Given the description of an element on the screen output the (x, y) to click on. 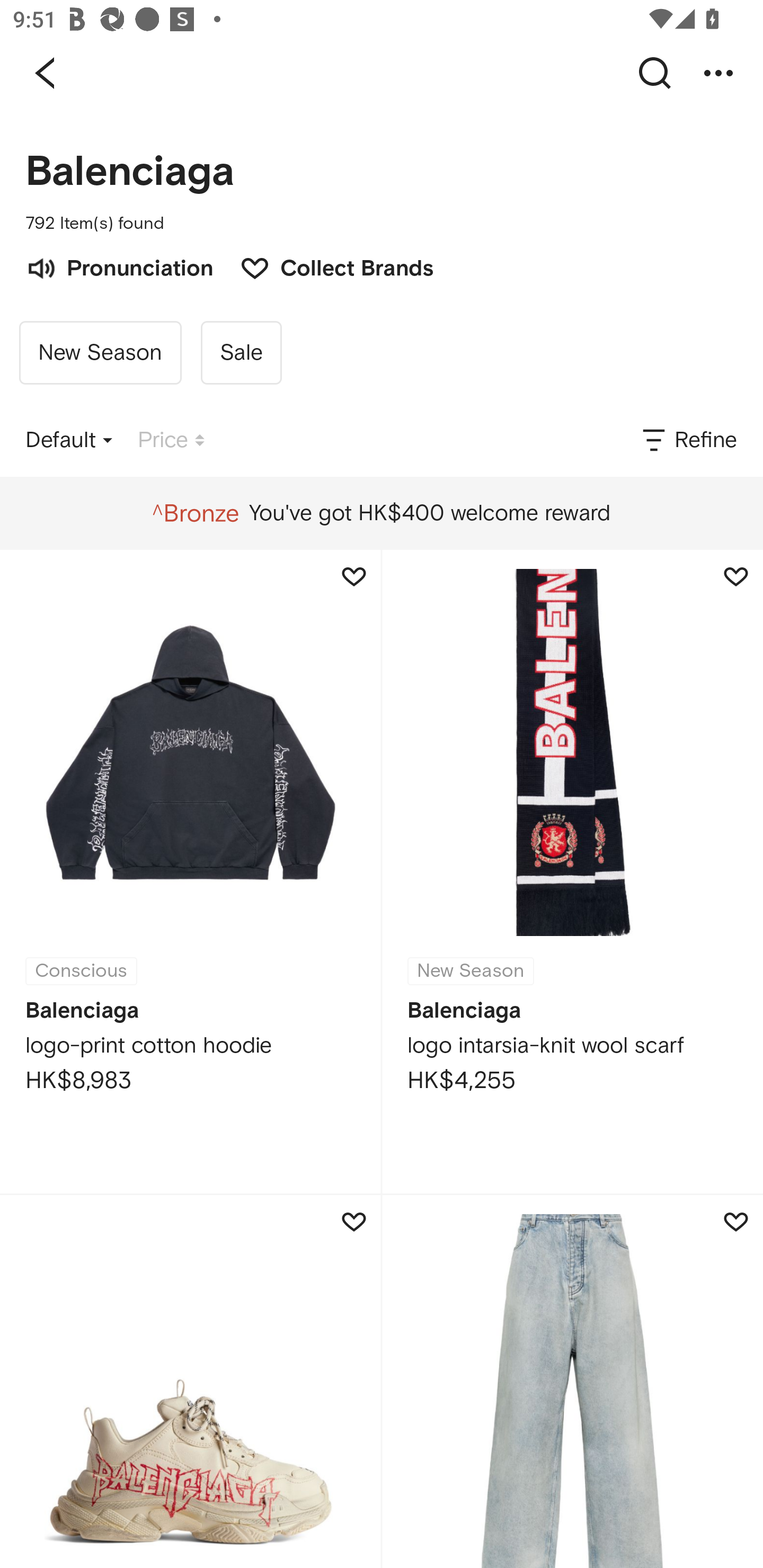
Pronunciation (119, 266)
Collect Brands (327, 266)
New Season (100, 352)
Sale (240, 352)
Default (68, 440)
Price (171, 440)
Refine (688, 440)
You've got HK$400 welcome reward (381, 513)
